Given the description of an element on the screen output the (x, y) to click on. 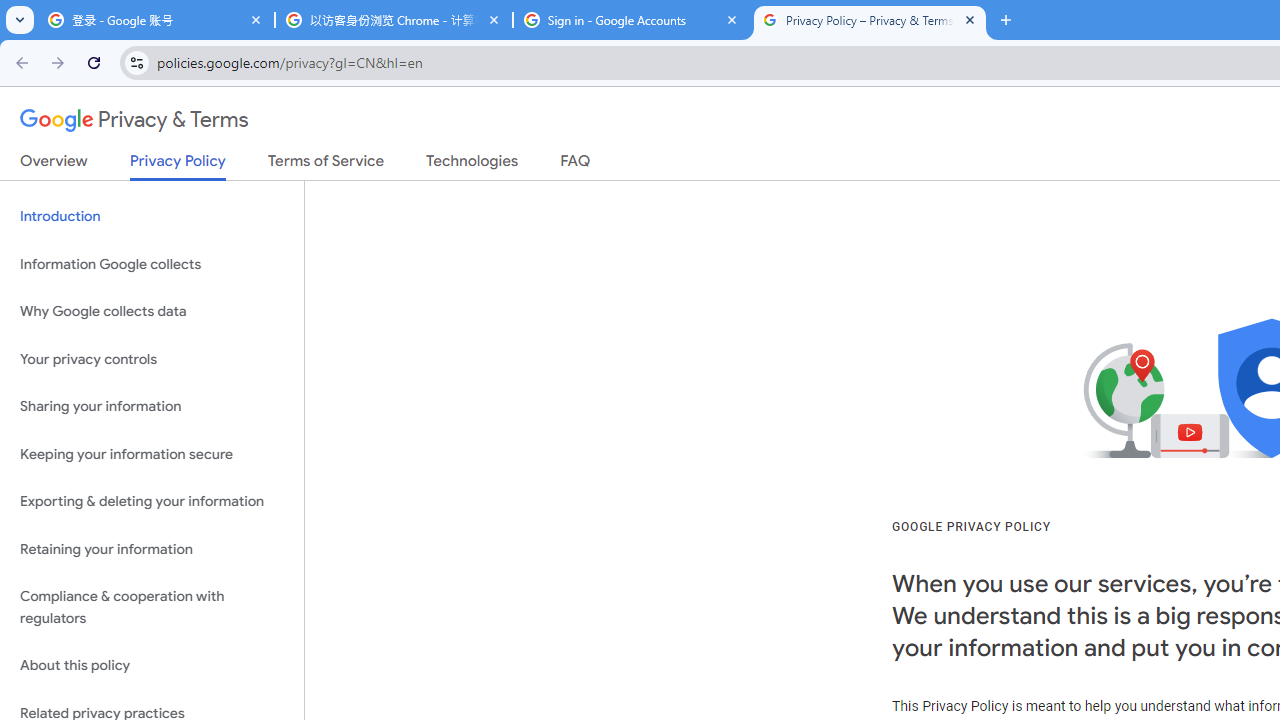
Information Google collects (152, 263)
About this policy (152, 666)
Retaining your information (152, 548)
Sharing your information (152, 407)
Keeping your information secure (152, 453)
